Given the description of an element on the screen output the (x, y) to click on. 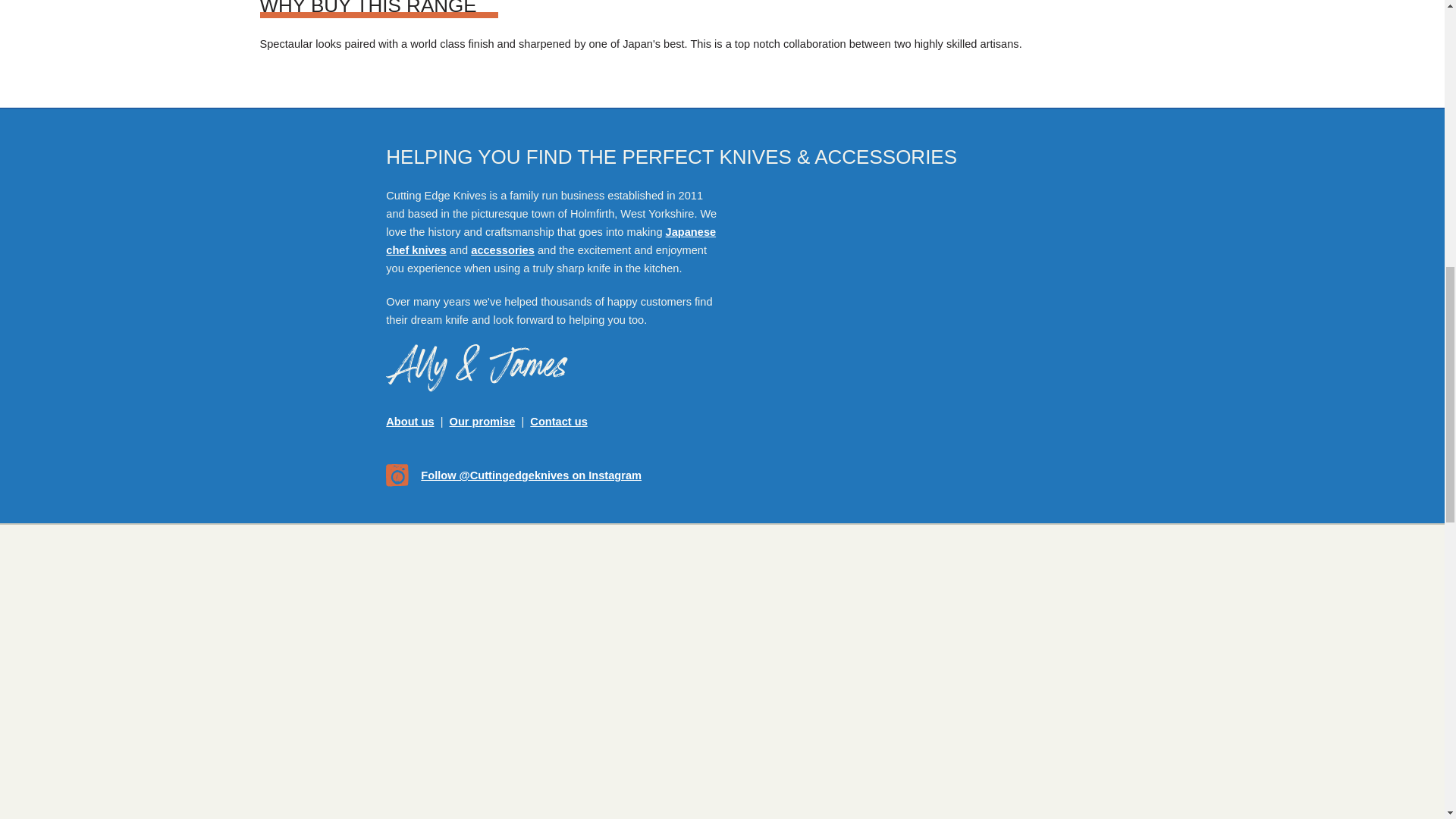
About Us (409, 421)
Money Back Promise (482, 421)
